Given the description of an element on the screen output the (x, y) to click on. 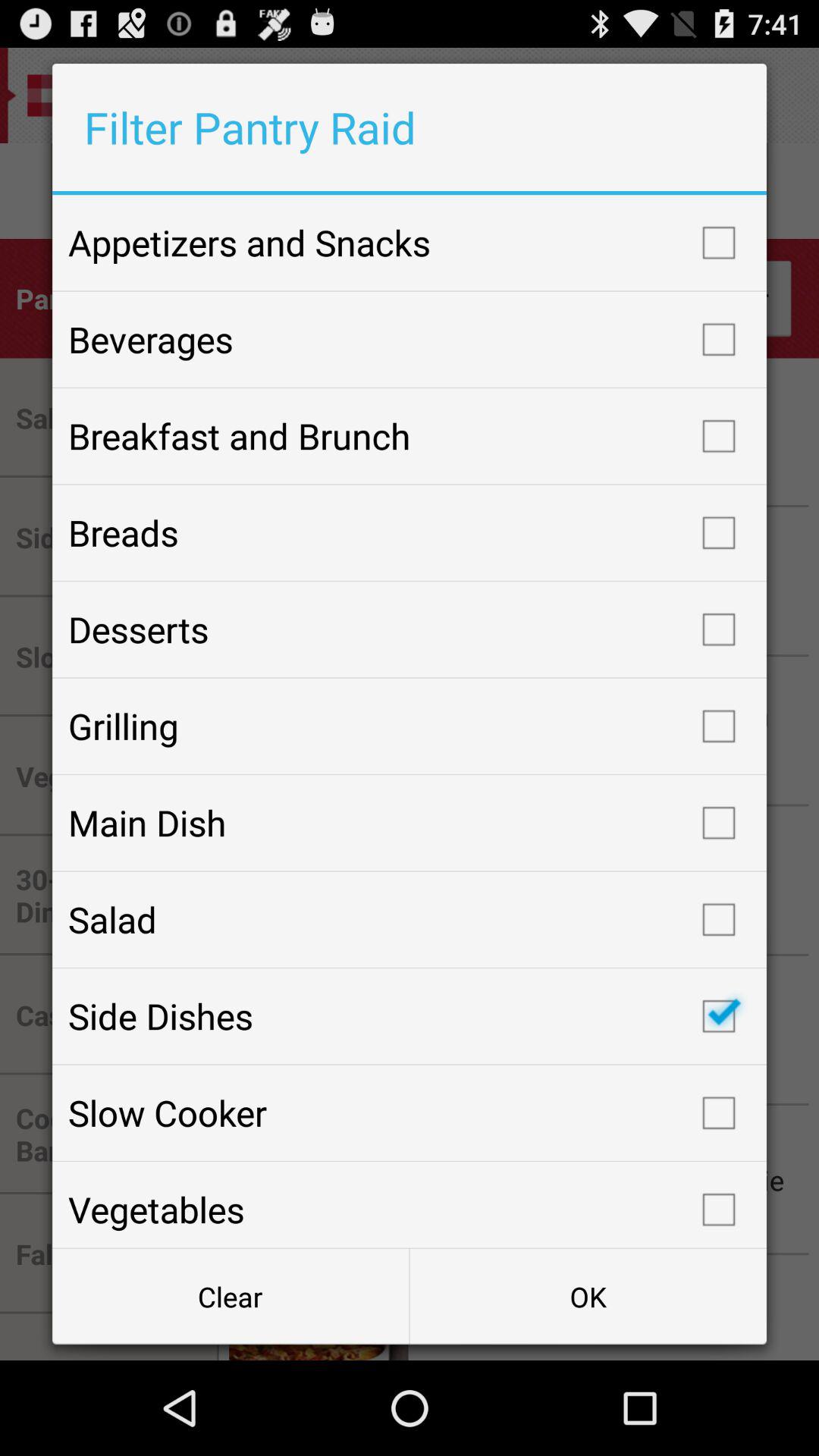
launch beverages checkbox (409, 339)
